Given the description of an element on the screen output the (x, y) to click on. 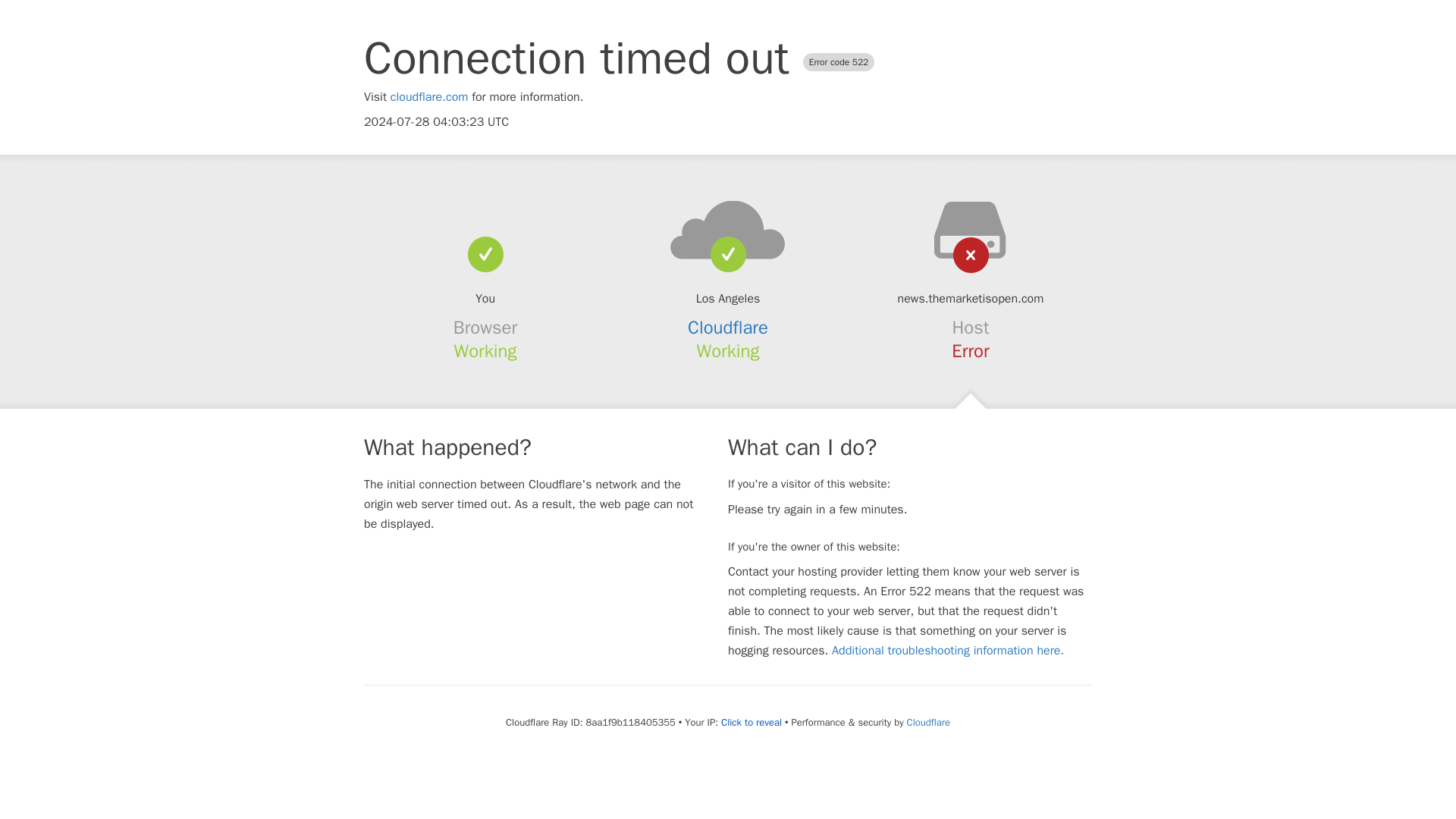
Click to reveal (750, 722)
Cloudflare (727, 327)
Cloudflare (928, 721)
Additional troubleshooting information here. (947, 650)
cloudflare.com (429, 96)
